Given the description of an element on the screen output the (x, y) to click on. 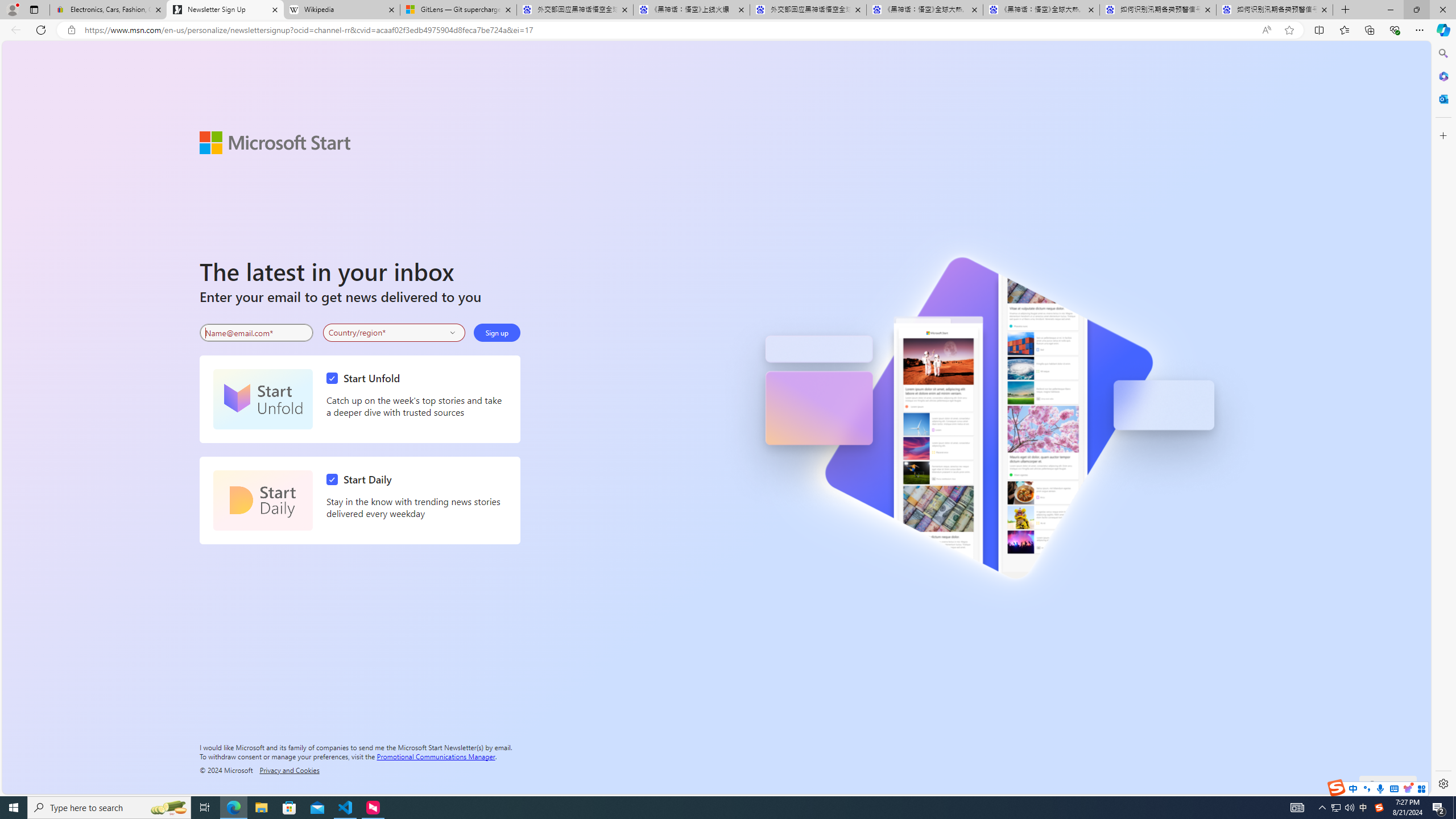
Sign up (496, 332)
Start Daily (262, 500)
Start Unfold (262, 399)
Privacy and Cookies (289, 769)
App bar (728, 29)
Wikipedia (341, 9)
